Given the description of an element on the screen output the (x, y) to click on. 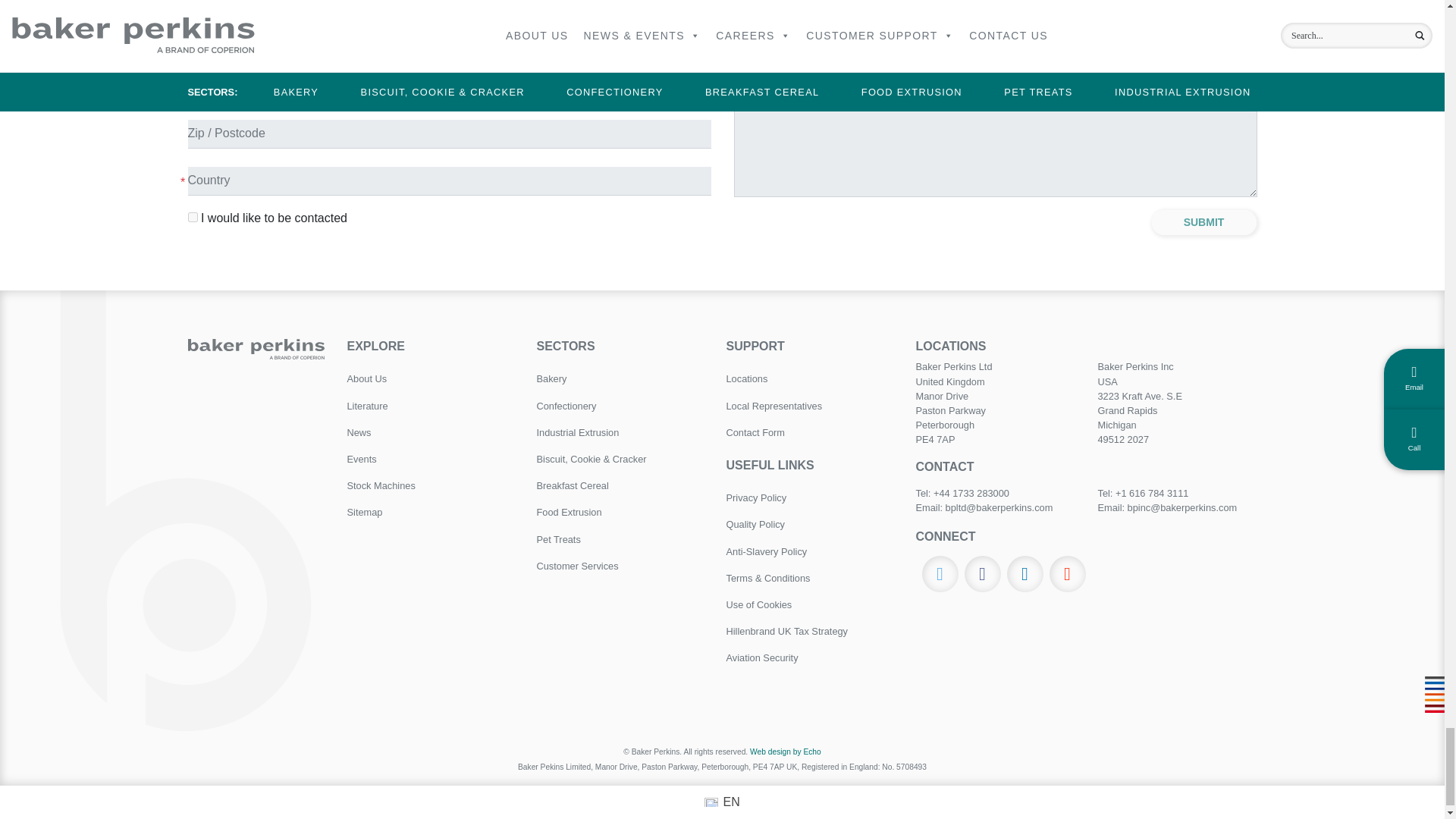
Submit (1204, 222)
1 (192, 216)
Stock Machines (430, 485)
Confectionery (620, 406)
Bakery (620, 378)
News (430, 432)
Sitemap (430, 511)
Events (430, 458)
About Us (430, 378)
Literature (430, 406)
